Given the description of an element on the screen output the (x, y) to click on. 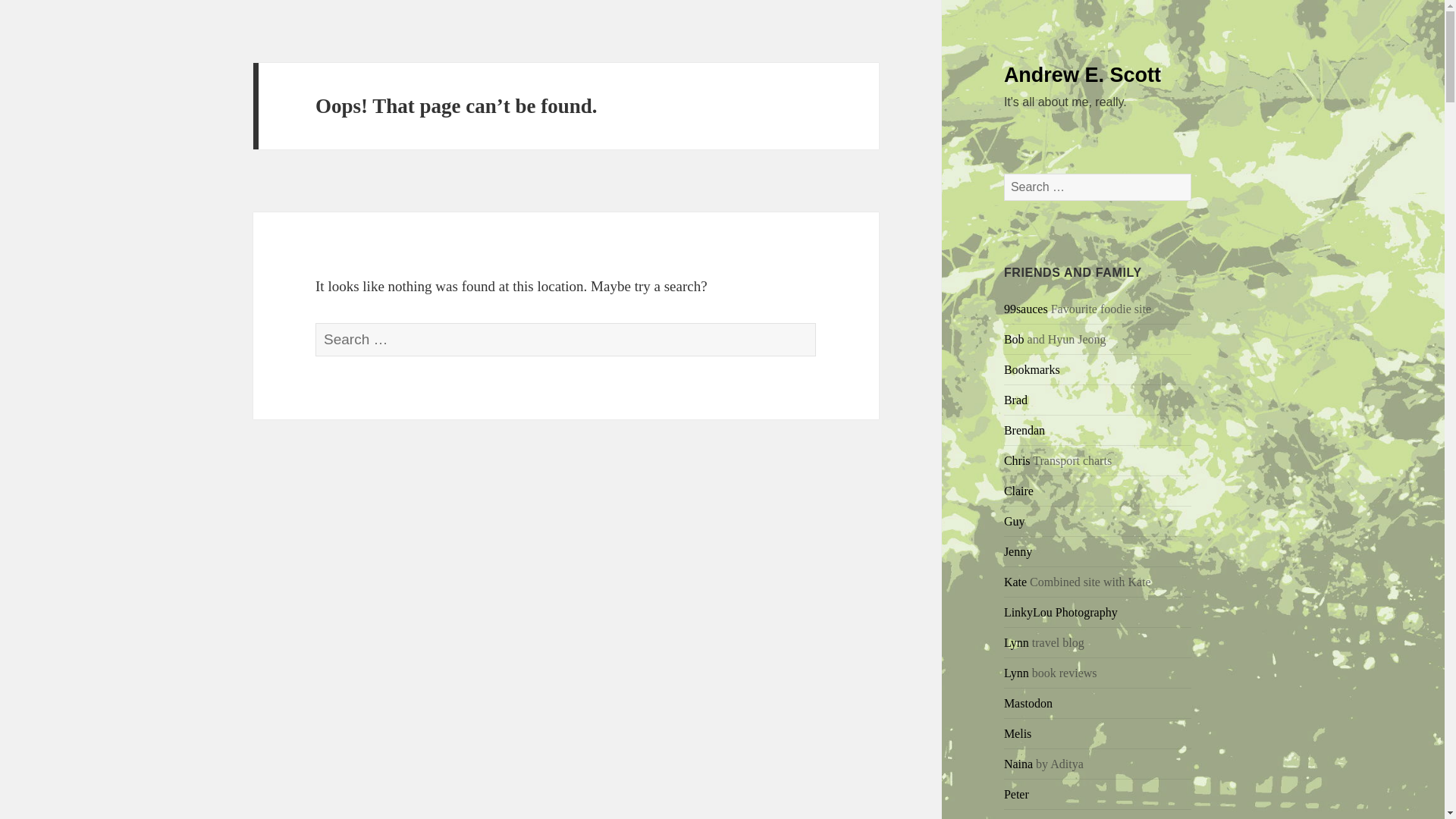
Transport charts (1017, 460)
LinkyLou Photography (1061, 612)
Naina (1018, 763)
Claire (1018, 490)
Jenny (1018, 551)
Mastodon (1028, 703)
Brendan (1024, 430)
99sauces (1026, 308)
Lynn (1016, 642)
Bookmarks (1031, 369)
Kate (1015, 581)
Bob (1014, 338)
